Given the description of an element on the screen output the (x, y) to click on. 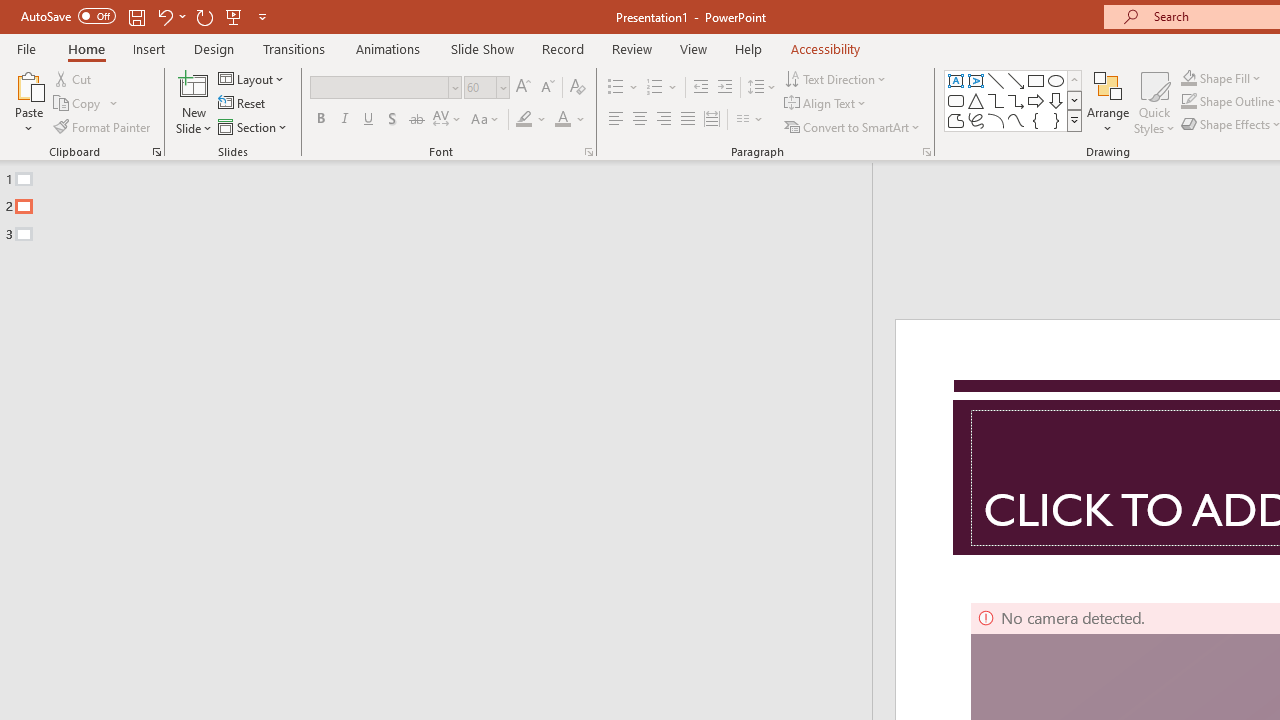
Outline (445, 202)
Decrease Indent (700, 87)
Clear Formatting (577, 87)
Cut (73, 78)
File Tab (26, 48)
Row up (1074, 79)
Accessibility (825, 48)
Office Clipboard... (156, 151)
Align Text (826, 103)
Line Arrow (1016, 80)
Freeform: Shape (955, 120)
Numbering (654, 87)
Connector: Elbow (995, 100)
Section (254, 126)
Oval (1055, 80)
